Given the description of an element on the screen output the (x, y) to click on. 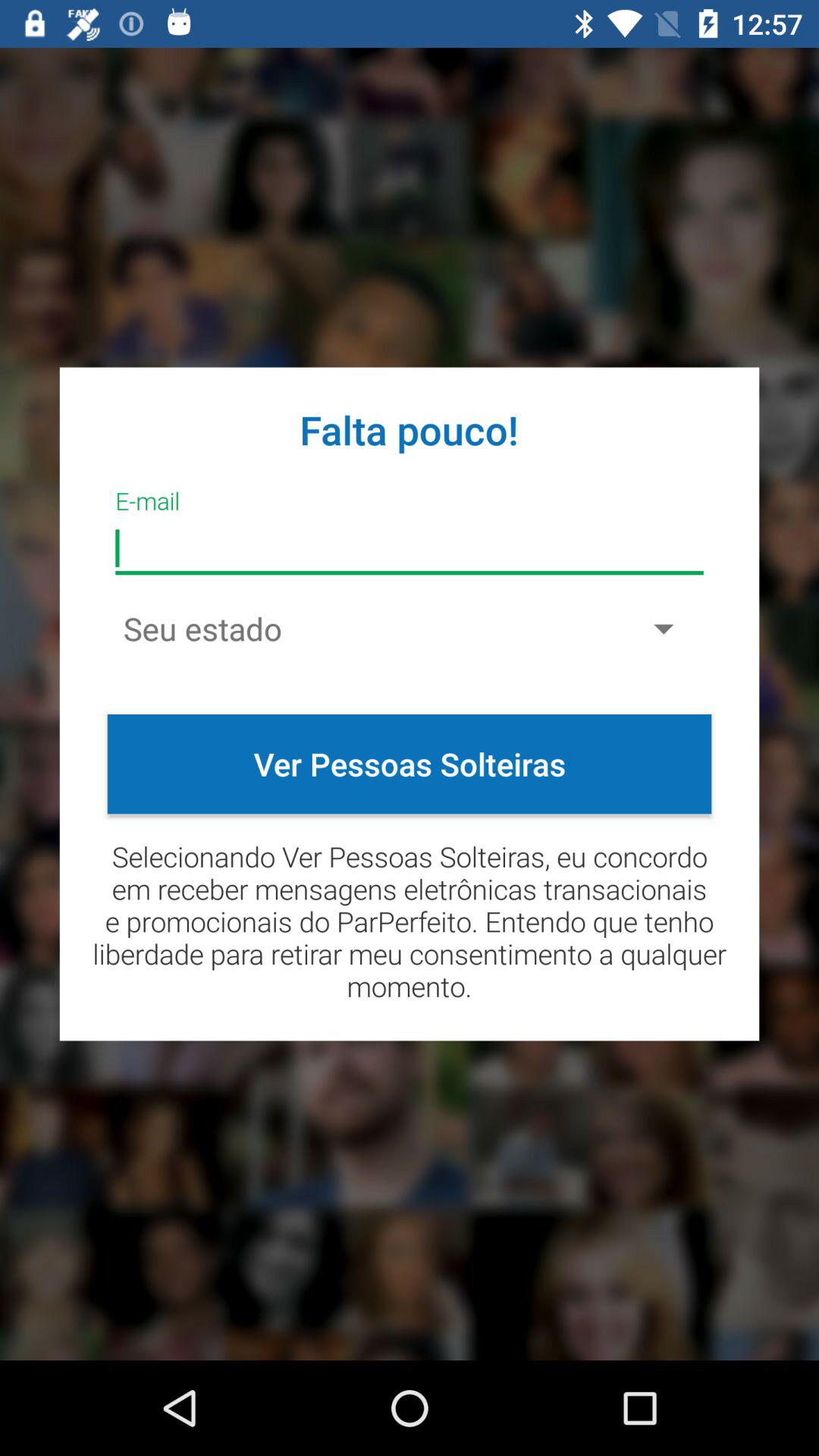
enter e-mail address (409, 548)
